Given the description of an element on the screen output the (x, y) to click on. 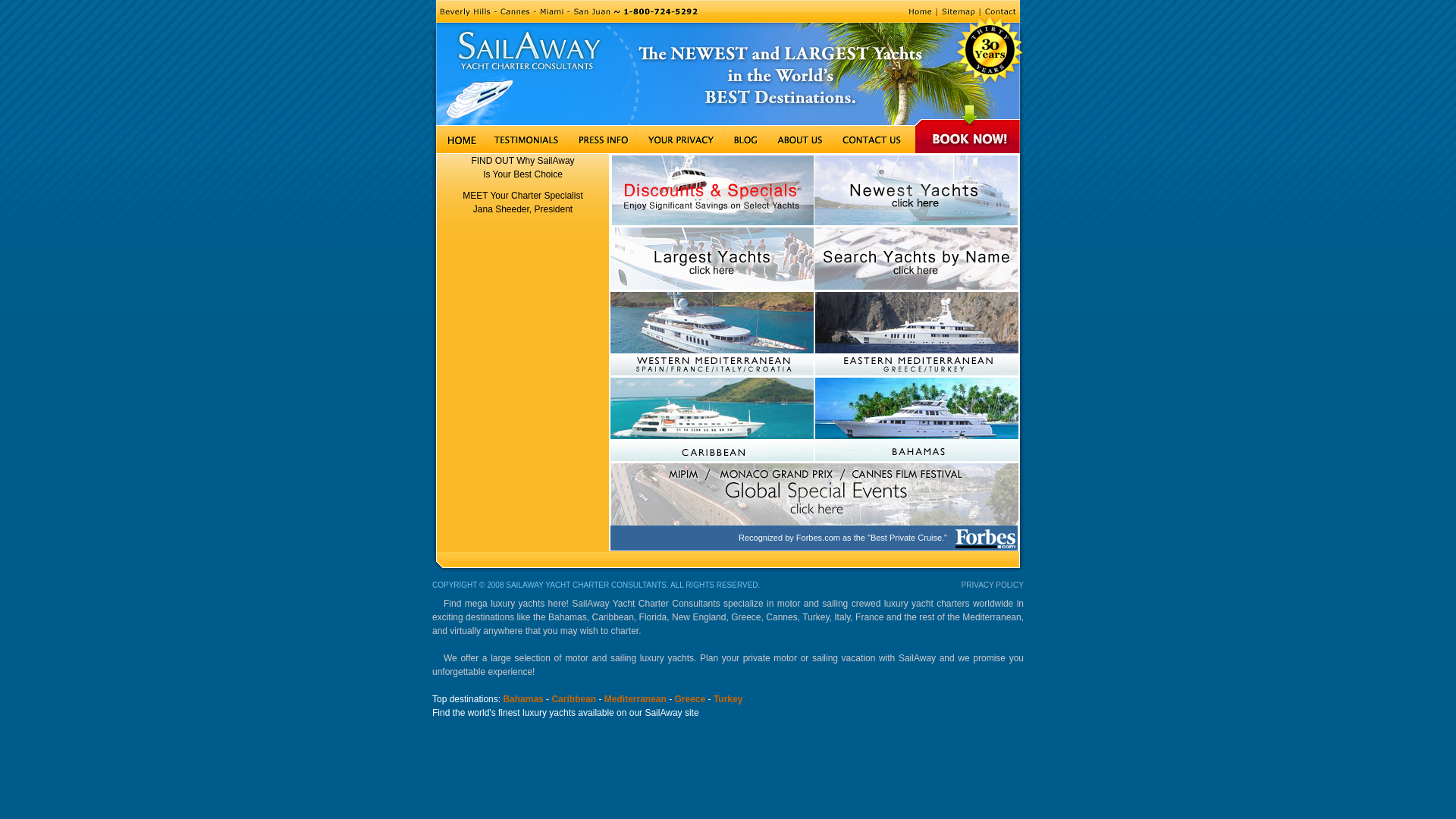
Bahamas Element type: hover (915, 419)
Caribbean Element type: hover (711, 419)
Blog Element type: text (744, 139)
Book Now Element type: text (969, 139)
Largest Yachts Element type: hover (711, 258)
Home Element type: text (919, 11)
Eastern Mediterranean Element type: hover (915, 333)
Western Mediterranean Element type: hover (711, 333)
Greece Element type: text (690, 698)
Yacht Specials Element type: text (710, 189)
Search Yachts by Name Element type: hover (915, 258)
Your Privacy Element type: text (678, 139)
Press Info Element type: text (602, 139)
Testimonials Element type: text (527, 139)
Sitemap Element type: text (957, 11)
Home Element type: text (458, 139)
MEET Your Charter Specialist
Jana Sheeder, President Element type: text (522, 202)
Contact Us Element type: text (873, 139)
Mediterranean Element type: text (635, 698)
About Us Element type: text (799, 139)
PRIVACY POLICY Element type: text (992, 584)
Contact Element type: text (1001, 11)
Caribbean Element type: text (573, 698)
Turkey Element type: text (727, 698)
Bahamas Element type: text (522, 698)
New Yachts Element type: text (916, 190)
FIND OUT Why SailAway
Is Your Best Choice Element type: text (522, 167)
